Given the description of an element on the screen output the (x, y) to click on. 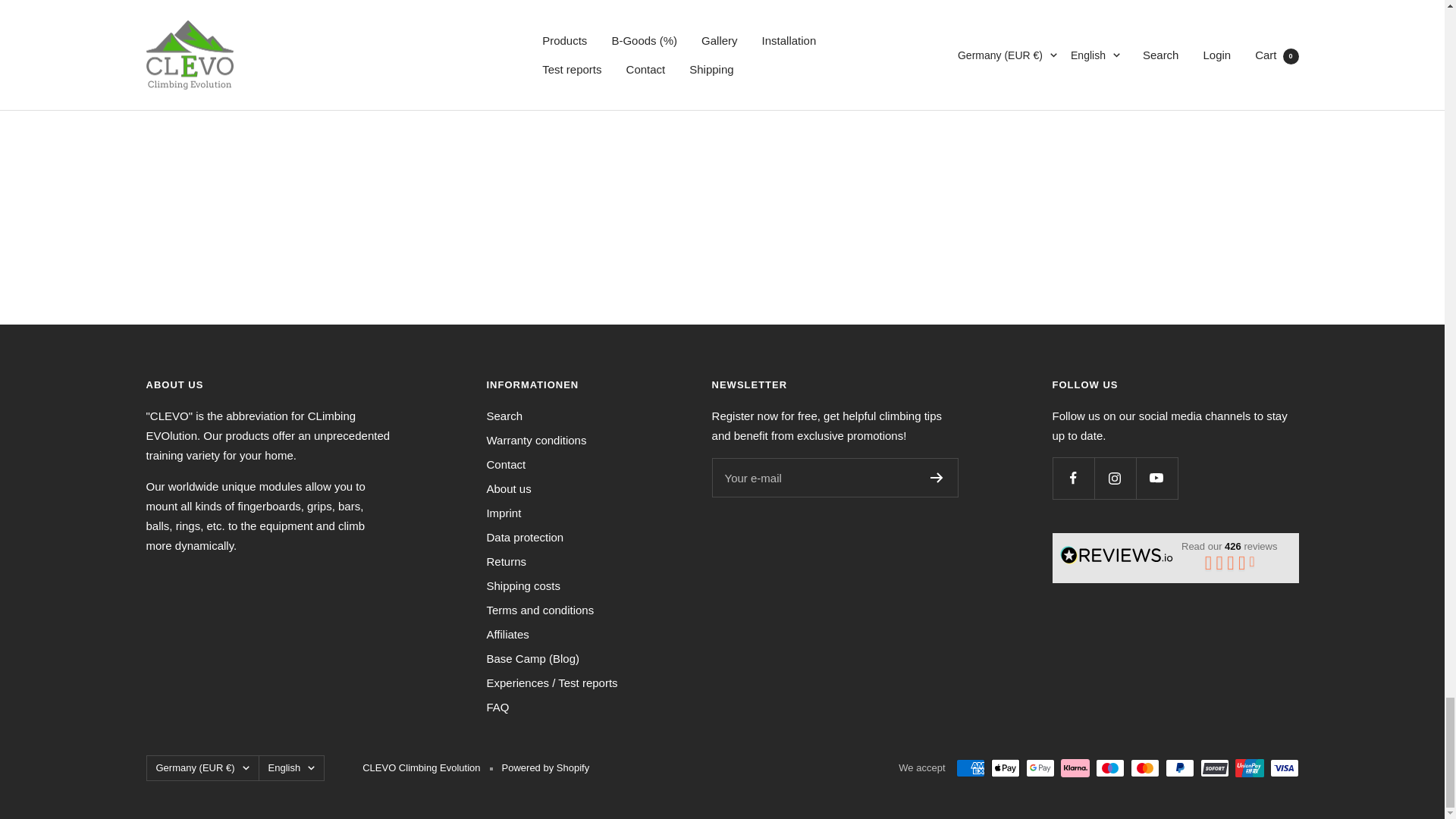
Register (936, 477)
Reviews Badge Ribbon Widget (1175, 555)
